Given the description of an element on the screen output the (x, y) to click on. 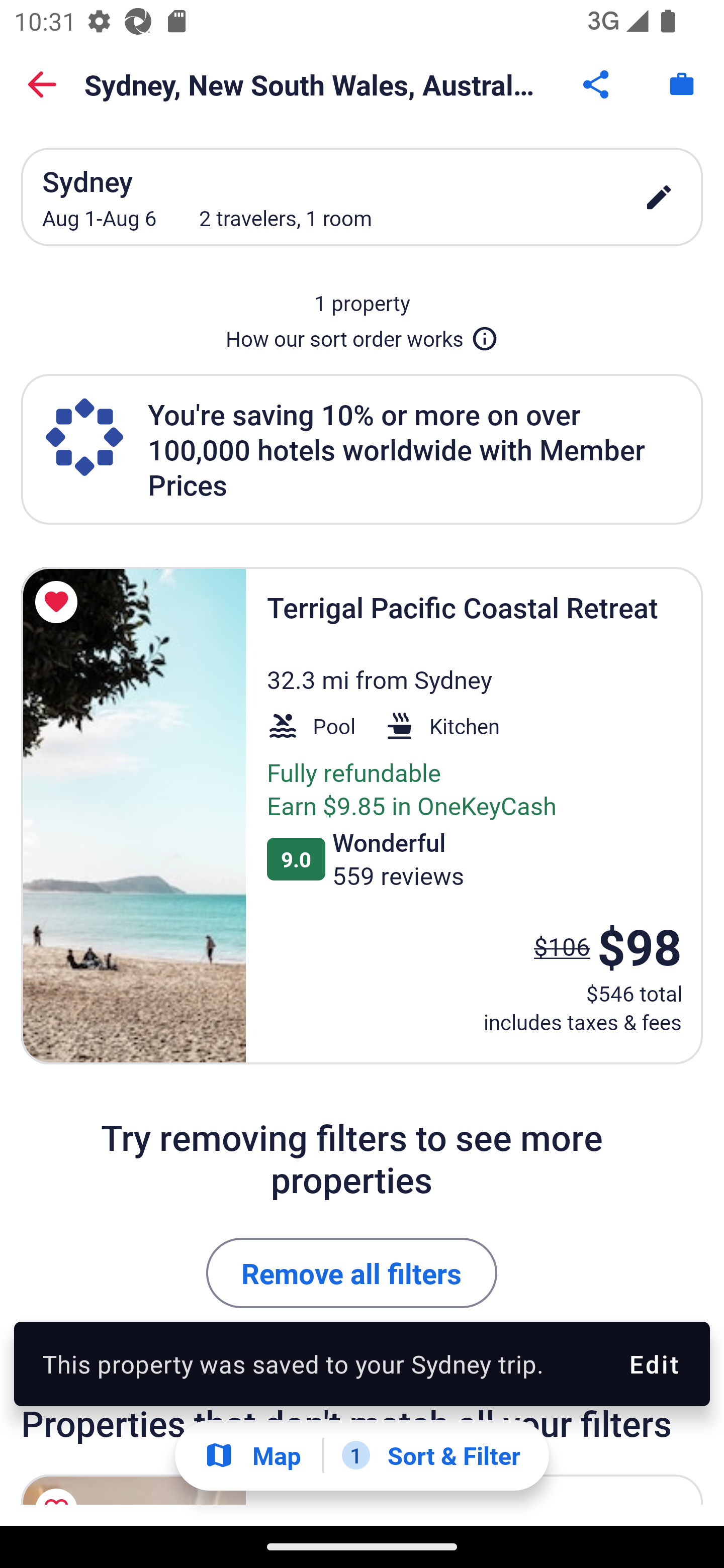
Back (42, 84)
Share Button (597, 84)
Trips. Button (681, 84)
Sydney Aug 1-Aug 6 2 travelers, 1 room edit (361, 196)
How our sort order works (361, 334)
Terrigal Pacific Coastal Retreat (133, 815)
$106 The price was $106 (561, 945)
Remove all filters (351, 1272)
Edit (653, 1363)
1 Sort & Filter 1 Filter applied. Filters Button (430, 1455)
Show map Map Show map Button (252, 1455)
